Given the description of an element on the screen output the (x, y) to click on. 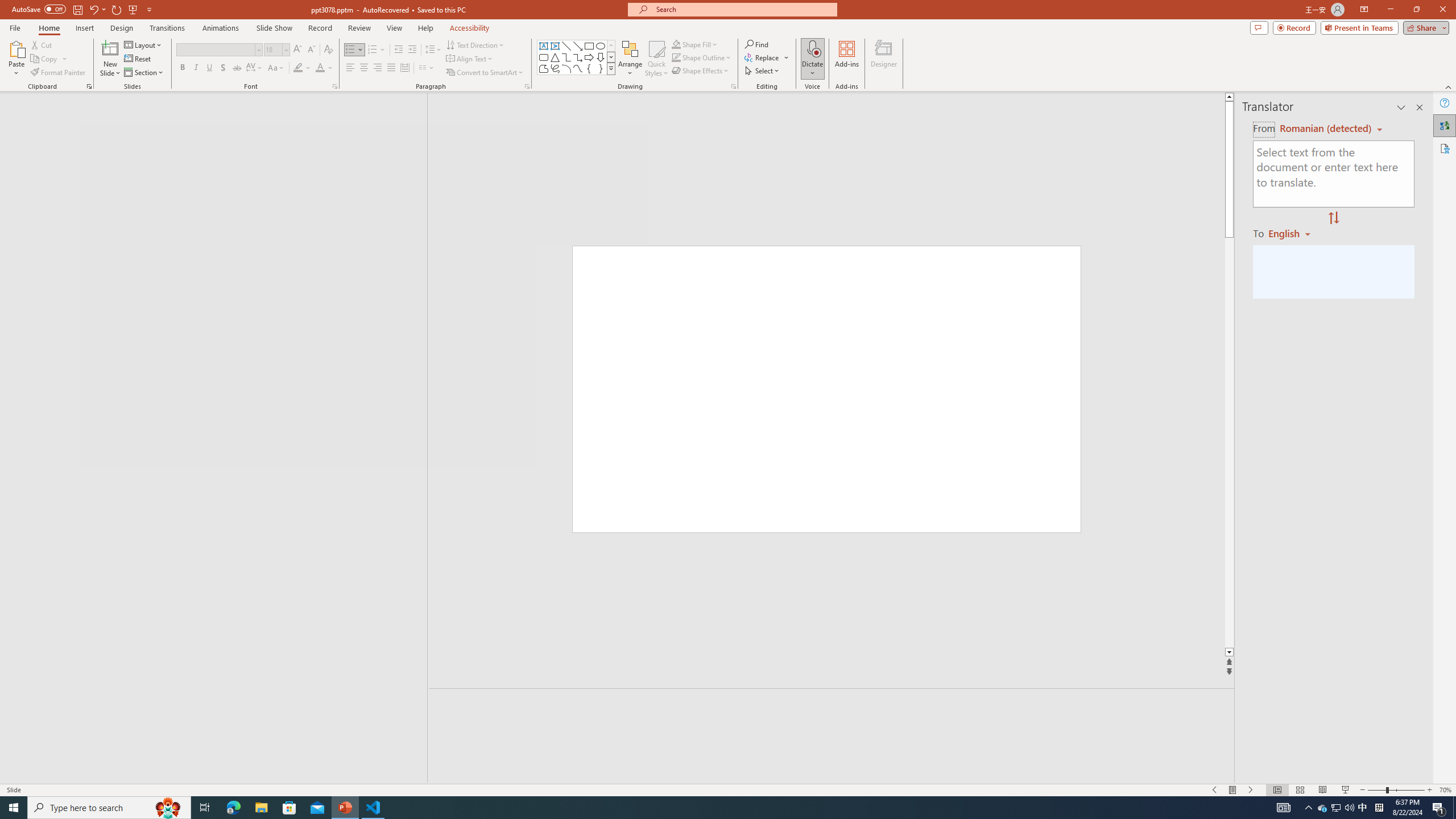
Change Case (276, 67)
Freeform: Shape (543, 68)
Underline (209, 67)
Section (144, 72)
Dictate (812, 58)
Format Painter (58, 72)
Format Object... (733, 85)
Slide Show Next On (1250, 790)
Font Size (276, 49)
Line (566, 45)
